Given the description of an element on the screen output the (x, y) to click on. 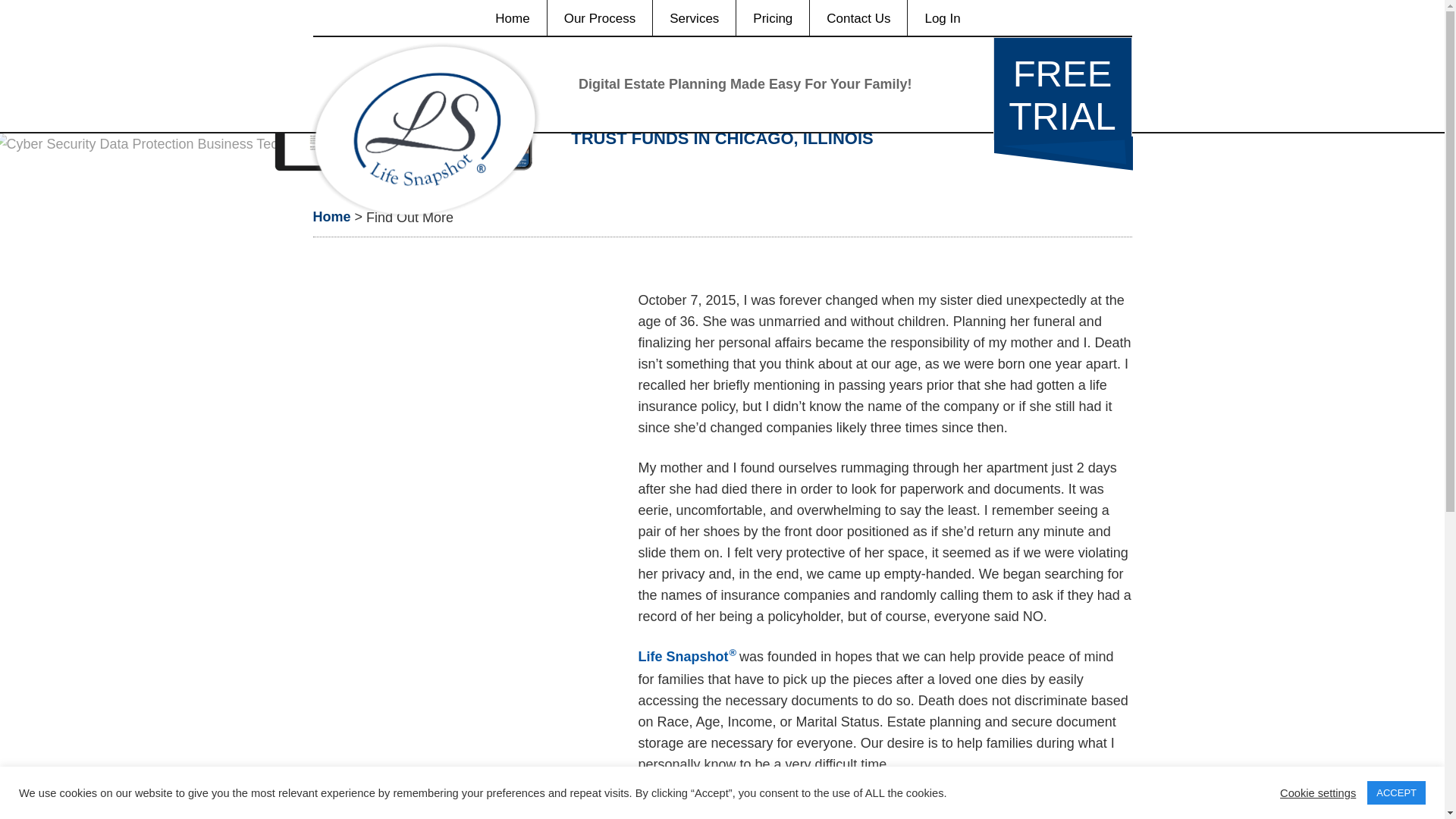
Home (331, 216)
Services (693, 18)
Contact Us (857, 18)
Our Process (599, 18)
Home (512, 18)
Log In (941, 18)
Pricing (1062, 88)
Go to Home (773, 18)
Cookie settings (331, 216)
ACCEPT (1317, 792)
